Given the description of an element on the screen output the (x, y) to click on. 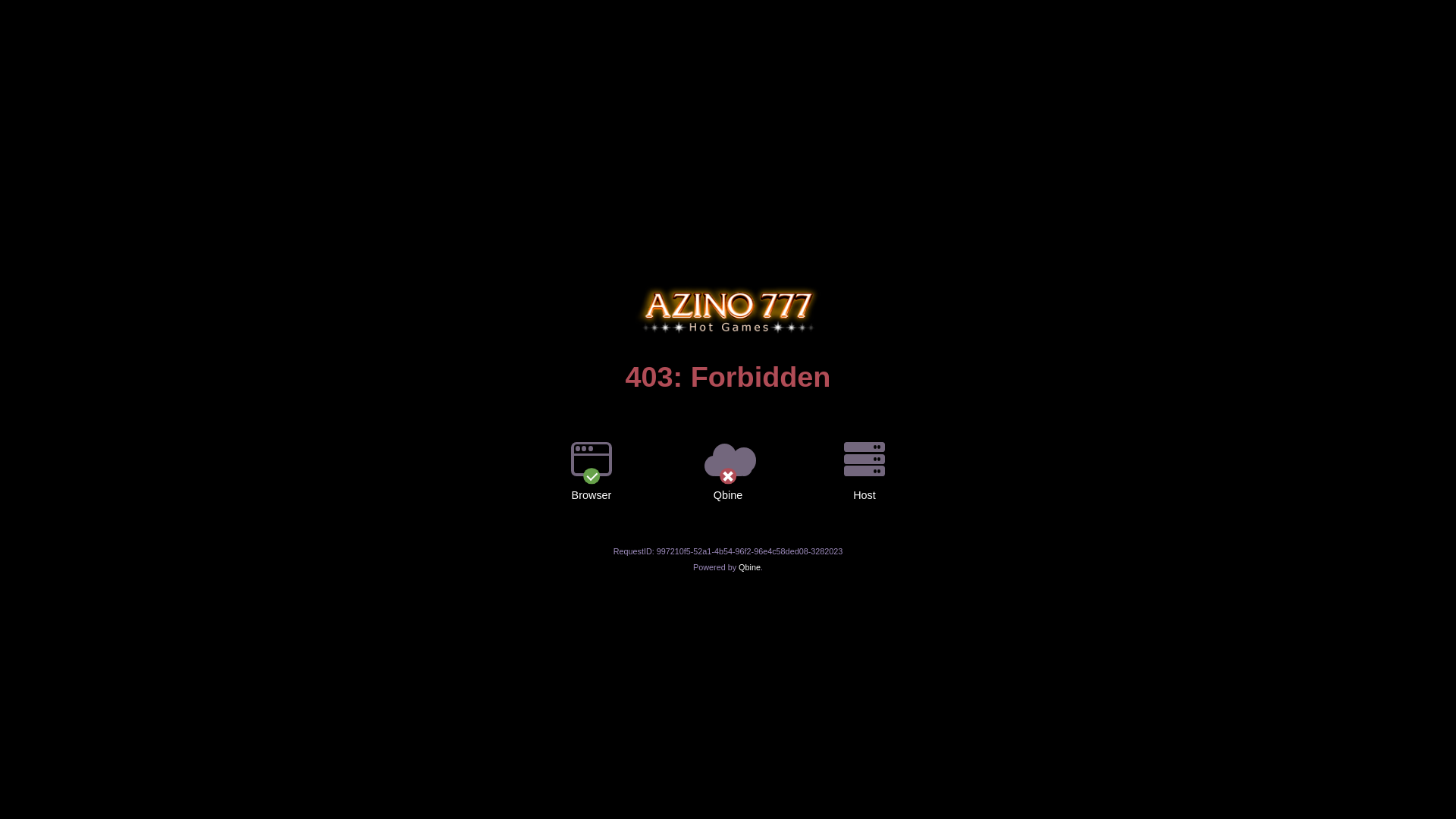
Qbine Element type: text (749, 566)
  Element type: text (727, 285)
